Given the description of an element on the screen output the (x, y) to click on. 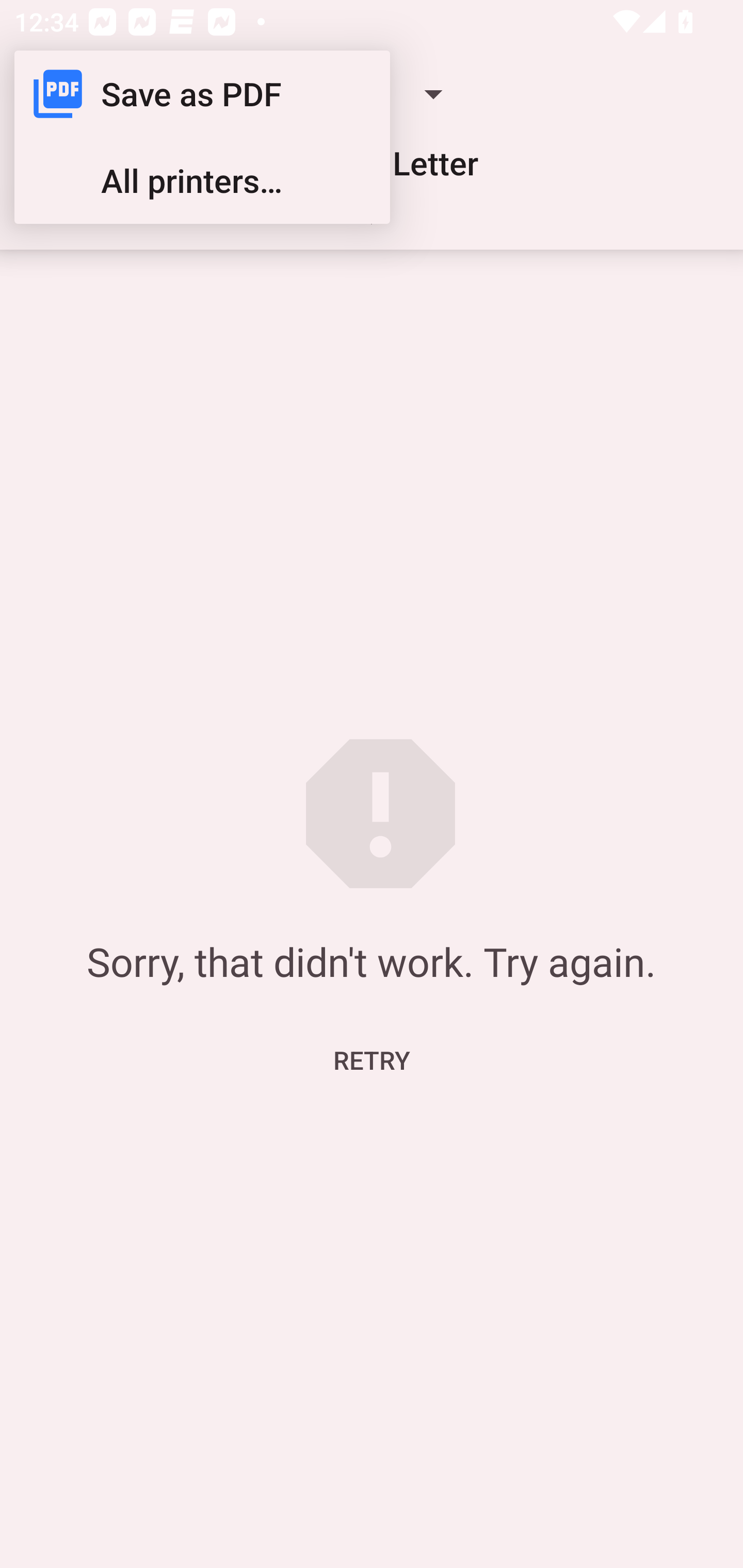
Save as PDF (202, 93)
All printers… (202, 180)
